Given the description of an element on the screen output the (x, y) to click on. 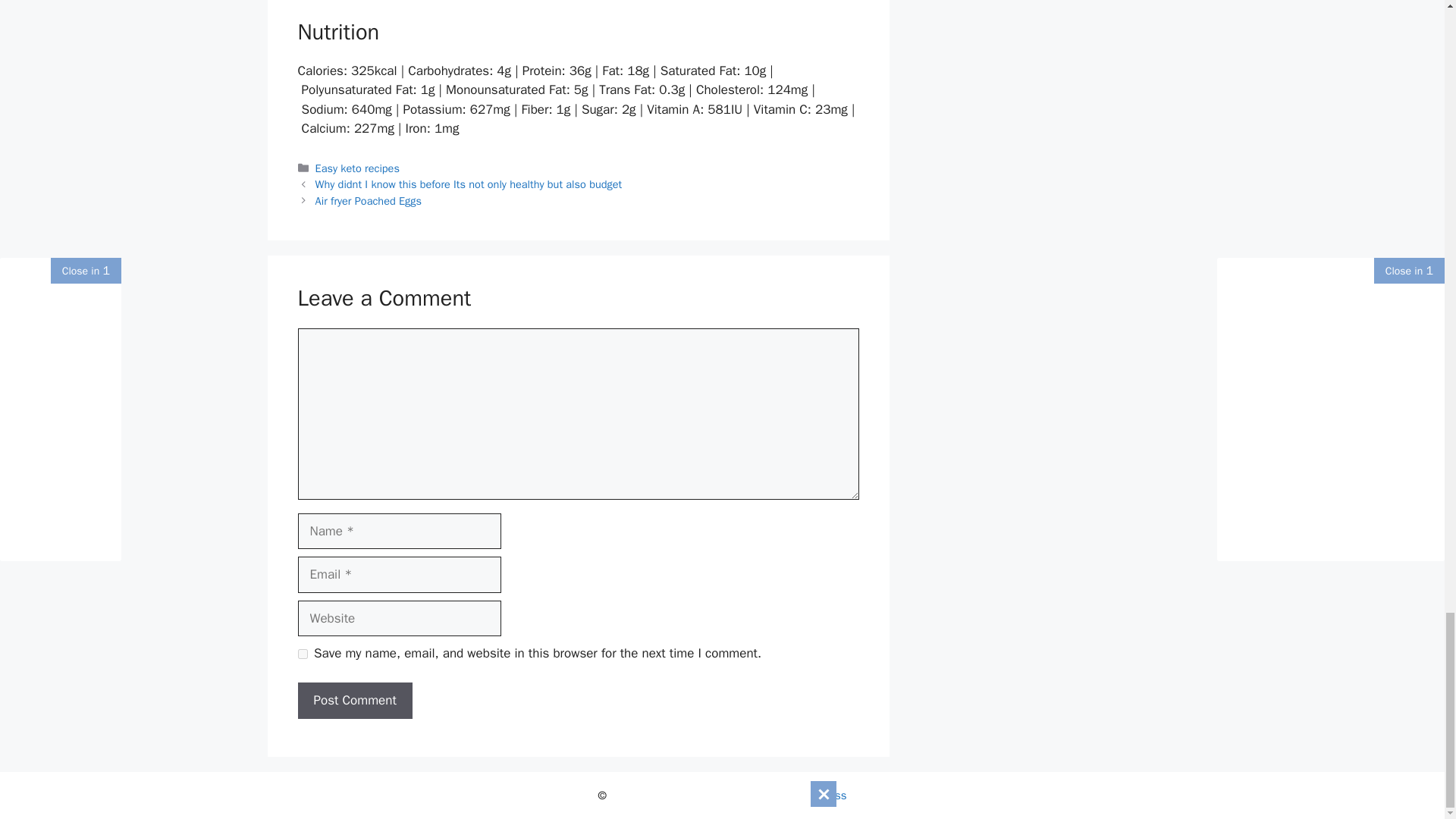
Air fryer Poached Eggs (368, 201)
Post Comment (354, 700)
Post Comment (354, 700)
Easy keto recipes (356, 168)
yes (302, 654)
